Given the description of an element on the screen output the (x, y) to click on. 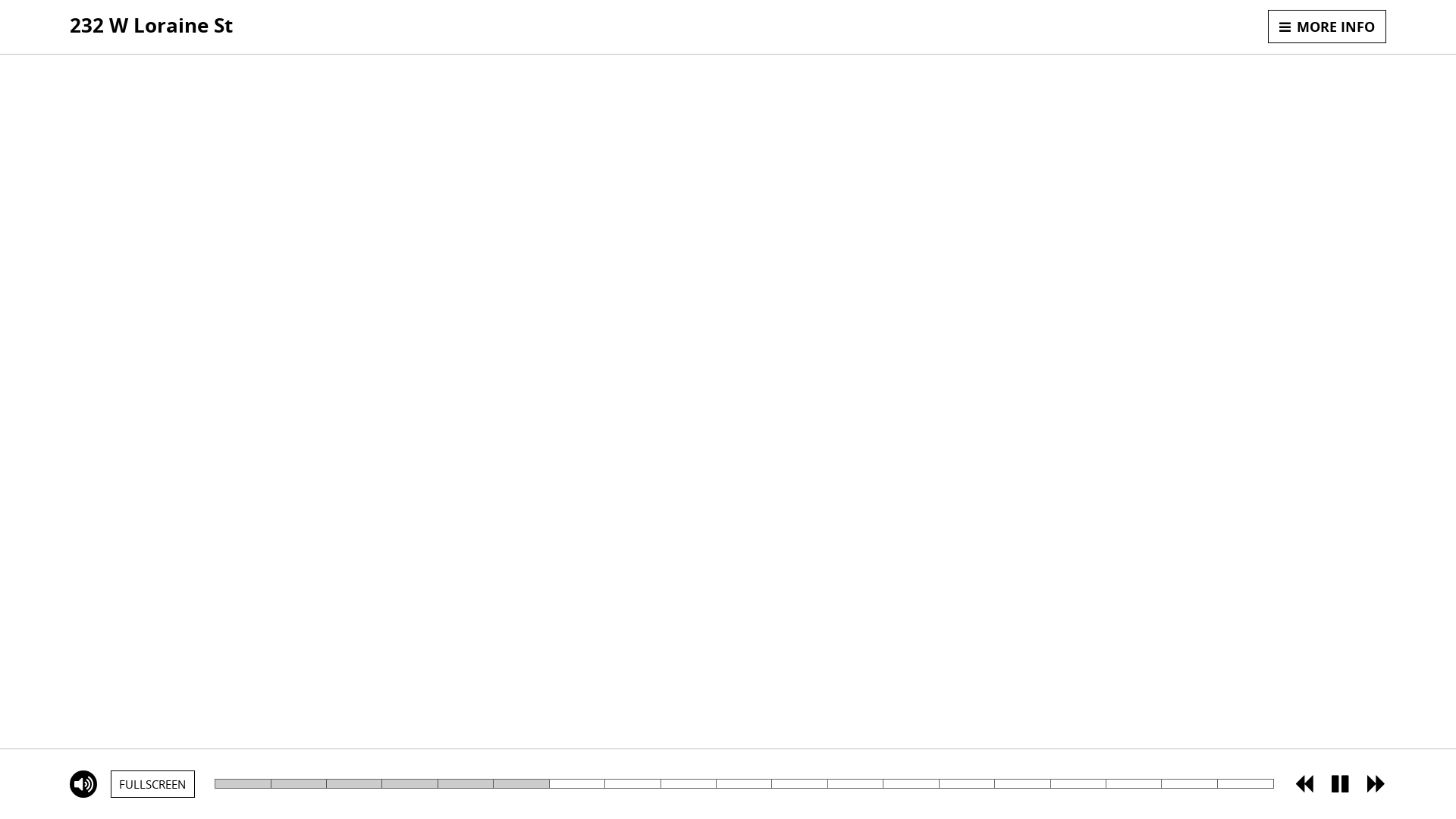
MORE INFO Element type: text (1326, 26)
